Given the description of an element on the screen output the (x, y) to click on. 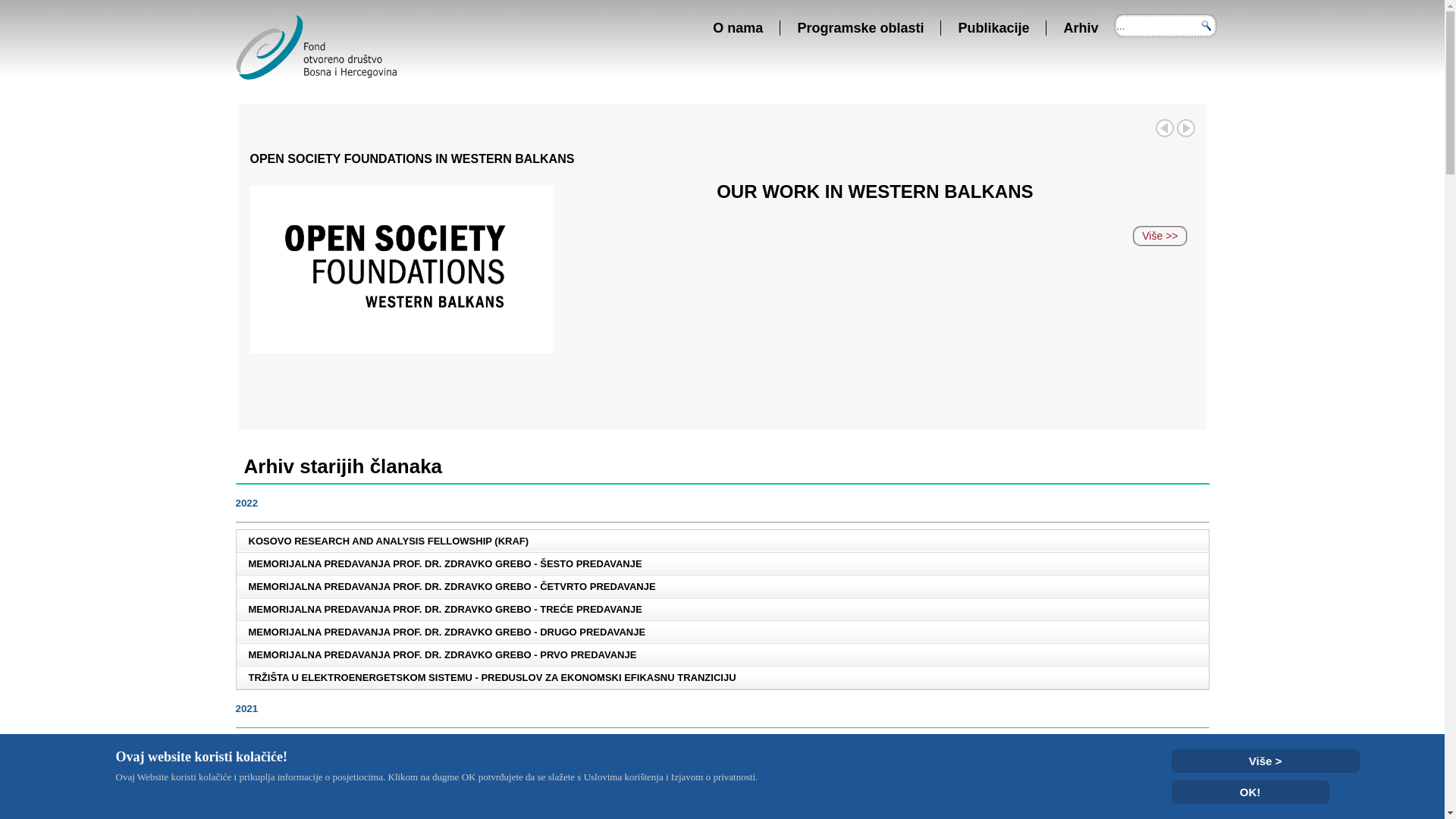
OK! Element type: text (1249, 791)
Arhiv Element type: text (1080, 27)
Prev Element type: text (1164, 128)
Next Element type: text (1185, 128)
Programske oblasti Element type: text (860, 27)
O nama Element type: text (737, 27)
Publikacije Element type: text (993, 27)
